Given the description of an element on the screen output the (x, y) to click on. 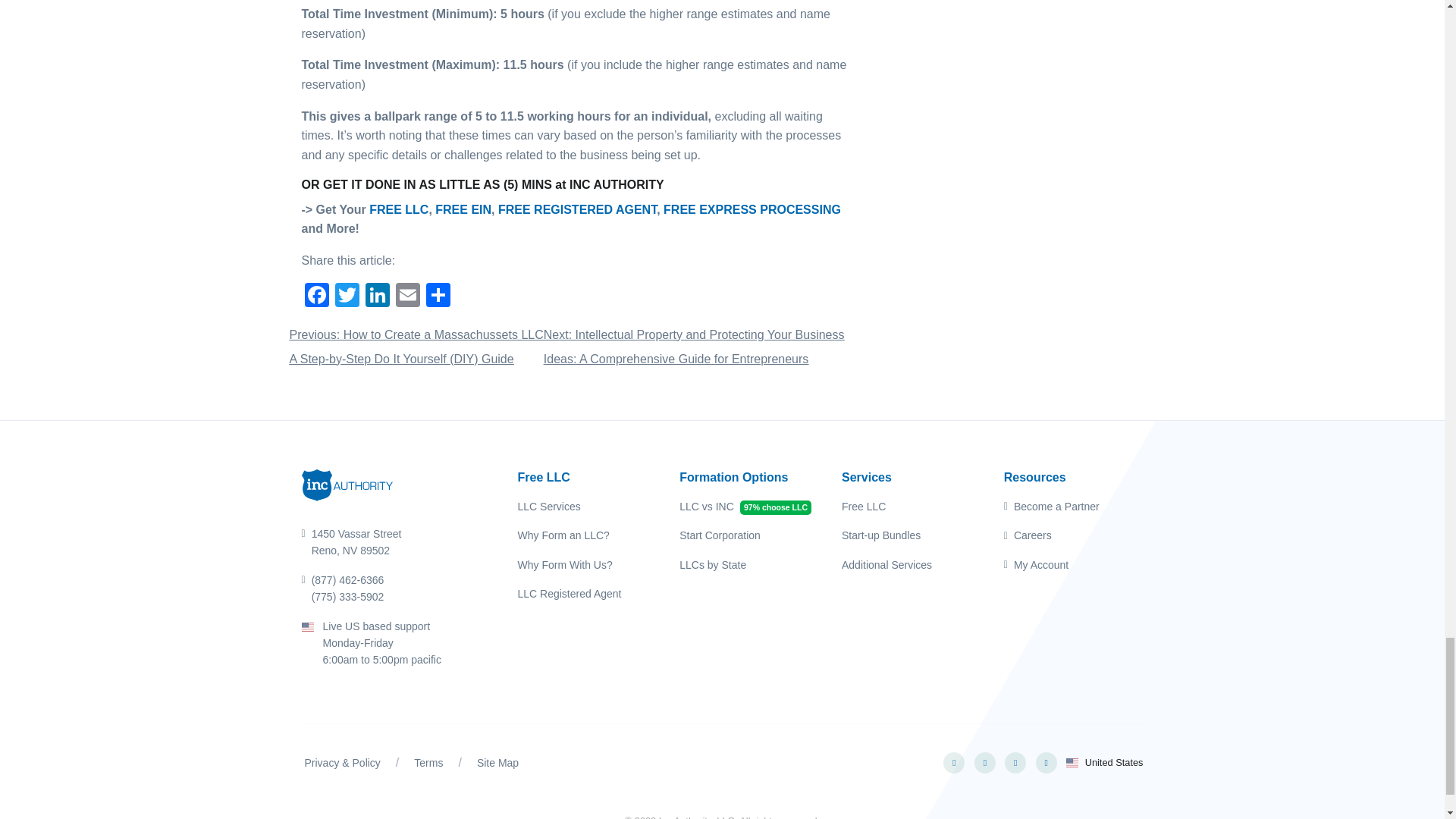
Email (408, 296)
LinkedIn (377, 296)
Facebook (316, 296)
Twitter (346, 296)
